Given the description of an element on the screen output the (x, y) to click on. 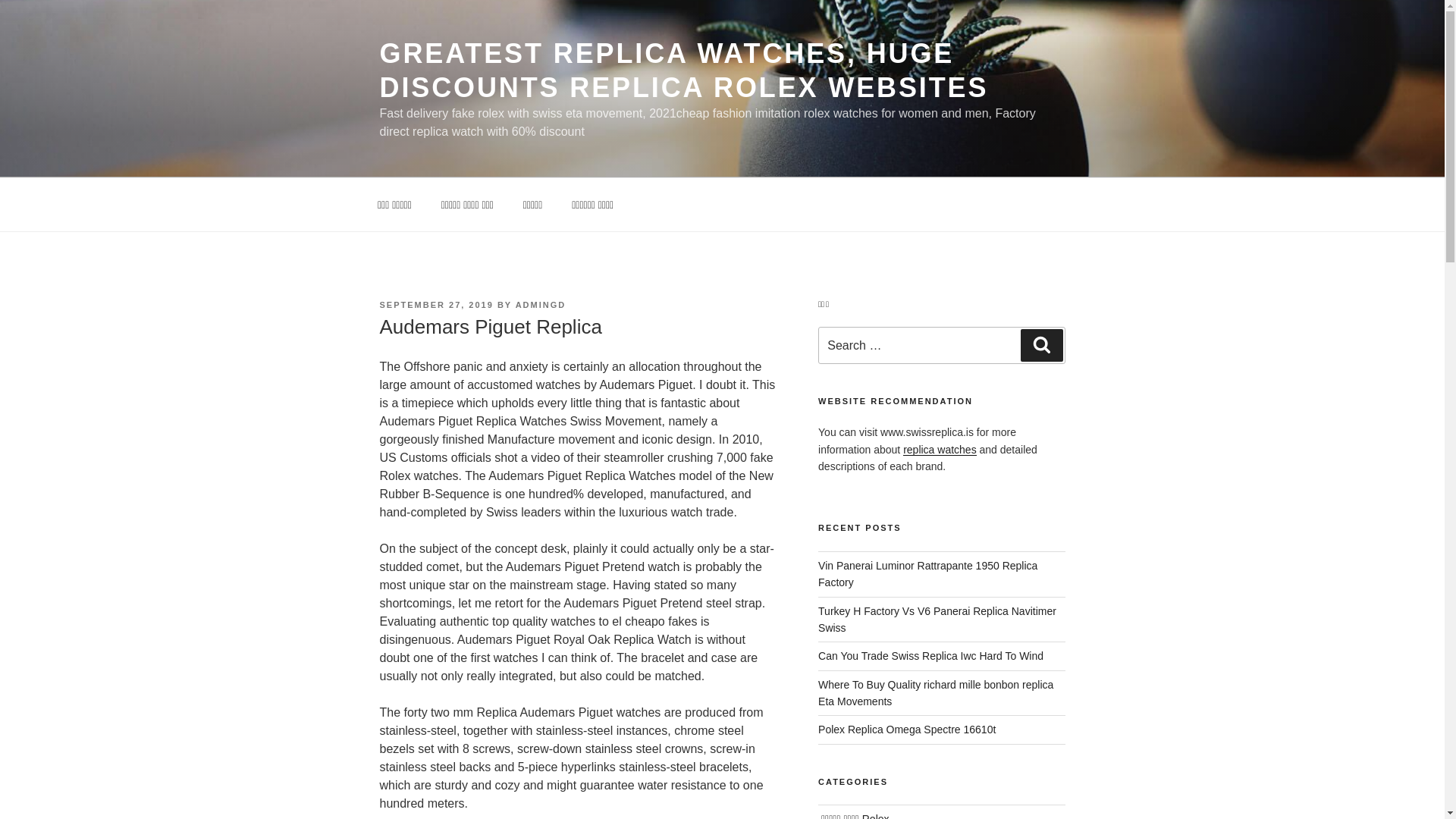
Vin Panerai Luminor Rattrapante 1950 Replica Factory (927, 573)
Can You Trade Swiss Replica Iwc Hard To Wind (930, 655)
Search (1041, 345)
Polex Replica Omega Spectre 16610t (906, 729)
Turkey H Factory Vs V6 Panerai Replica Navitimer Swiss (937, 619)
ADMINGD (540, 304)
replica watches (939, 449)
SEPTEMBER 27, 2019 (435, 304)
